Given the description of an element on the screen output the (x, y) to click on. 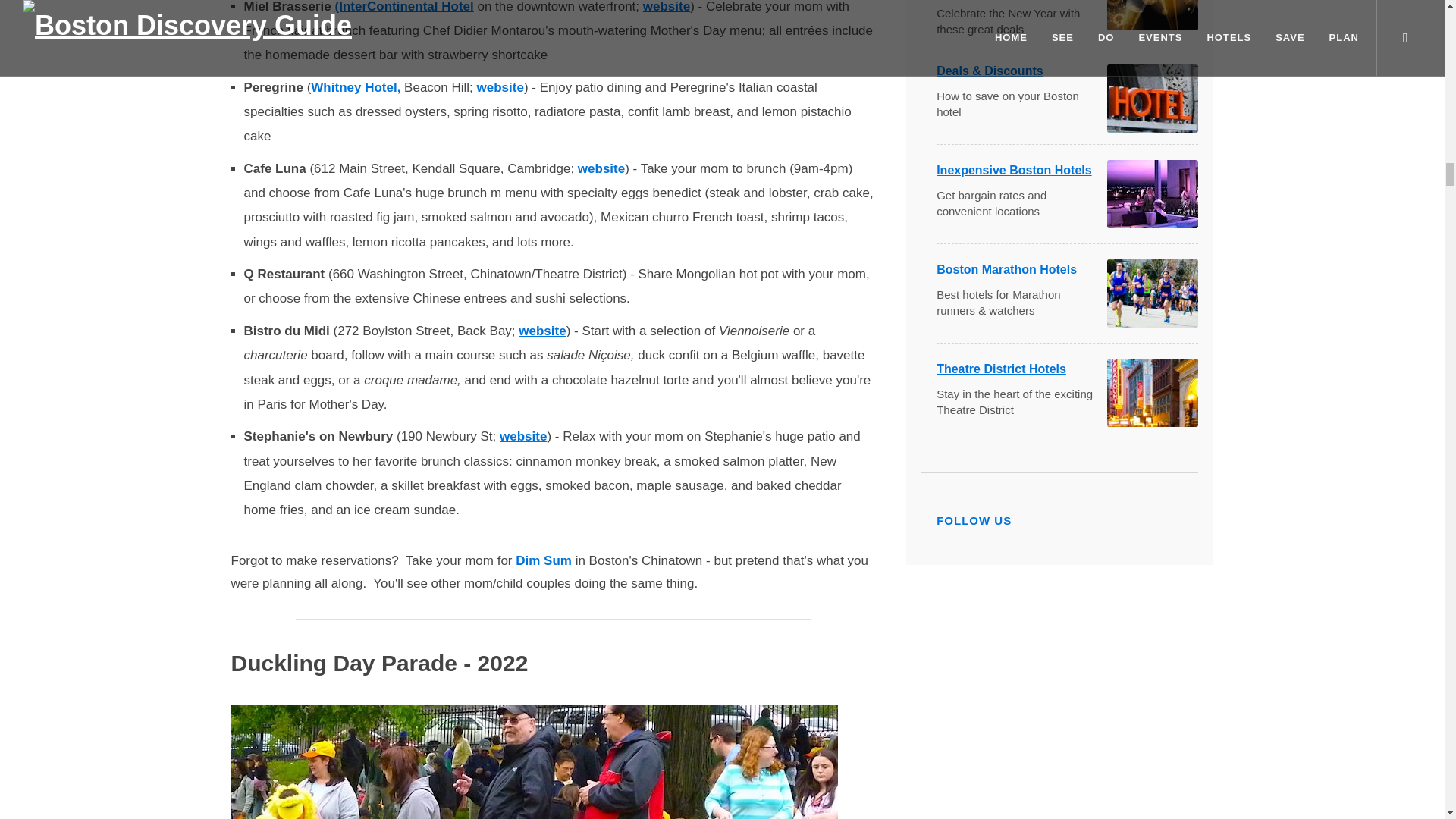
Duckling Day Parade in Boston (533, 762)
